Given the description of an element on the screen output the (x, y) to click on. 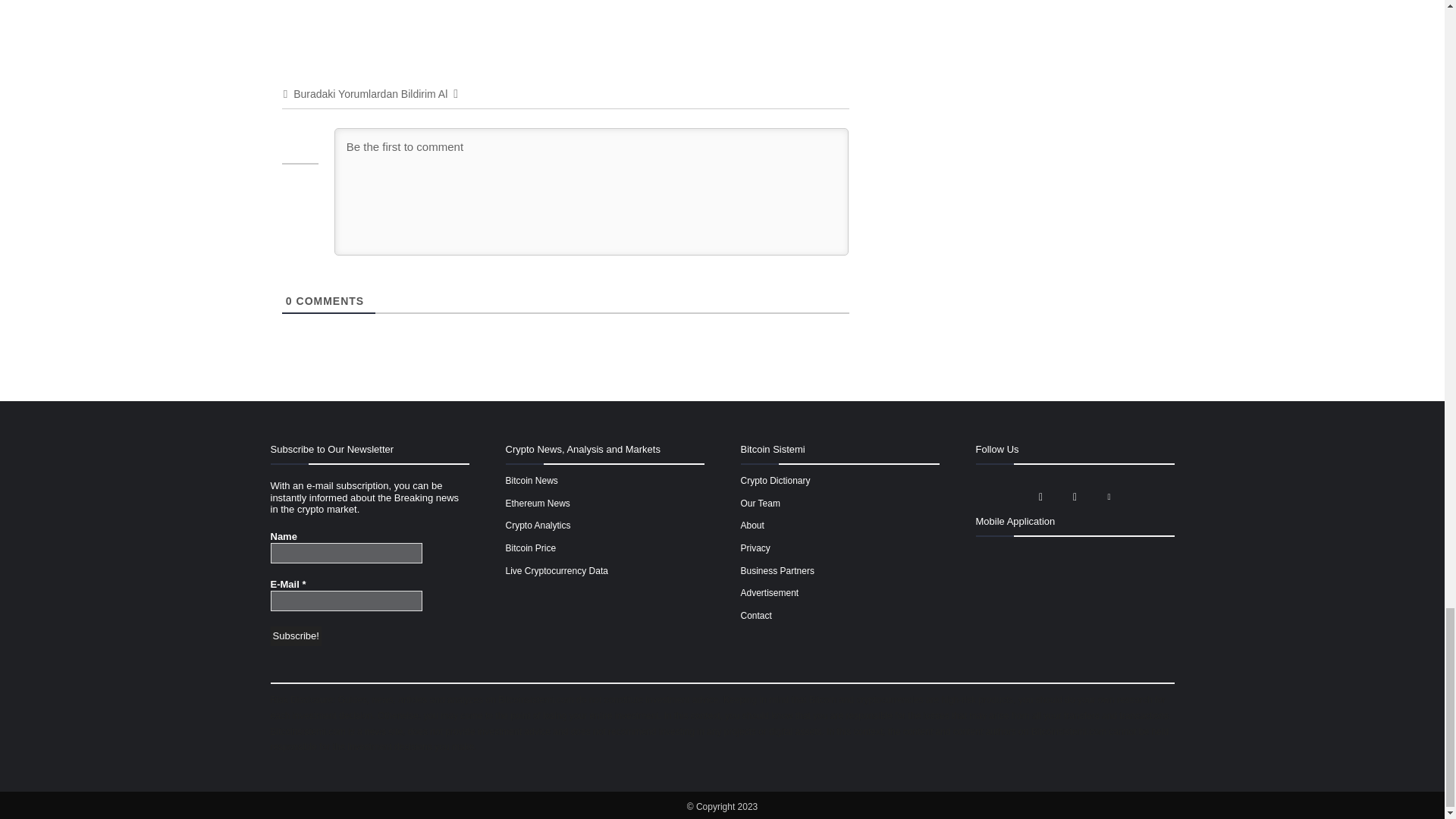
Subscribe! (294, 636)
